Given the description of an element on the screen output the (x, y) to click on. 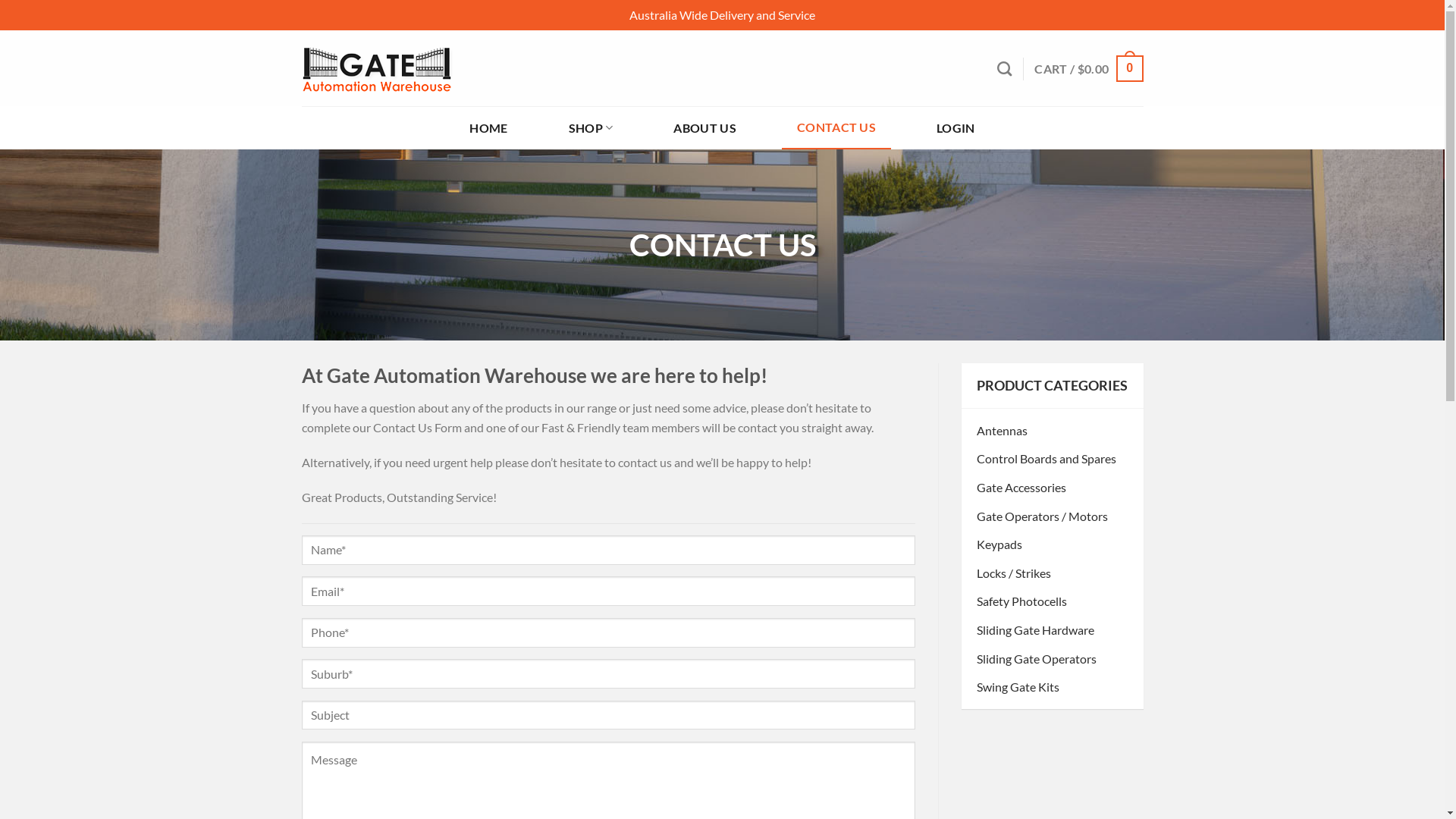
CONTACT US Element type: text (836, 127)
HOME Element type: text (488, 127)
Skip to content Element type: text (0, 0)
Gate Operators / Motors Element type: text (1052, 516)
Safety Photocells Element type: text (1052, 600)
Control Boards and Spares Element type: text (1052, 458)
CART / $0.00
0 Element type: text (1088, 68)
LOGIN Element type: text (955, 127)
Locks / Strikes Element type: text (1052, 572)
Sliding Gate Operators Element type: text (1052, 658)
Gate Accessories Element type: text (1052, 487)
Keypads Element type: text (1052, 544)
Antennas Element type: text (1052, 430)
ABOUT US Element type: text (704, 127)
Sliding Gate Hardware Element type: text (1052, 629)
SHOP Element type: text (590, 127)
Swing Gate Kits Element type: text (1052, 686)
